Given the description of an element on the screen output the (x, y) to click on. 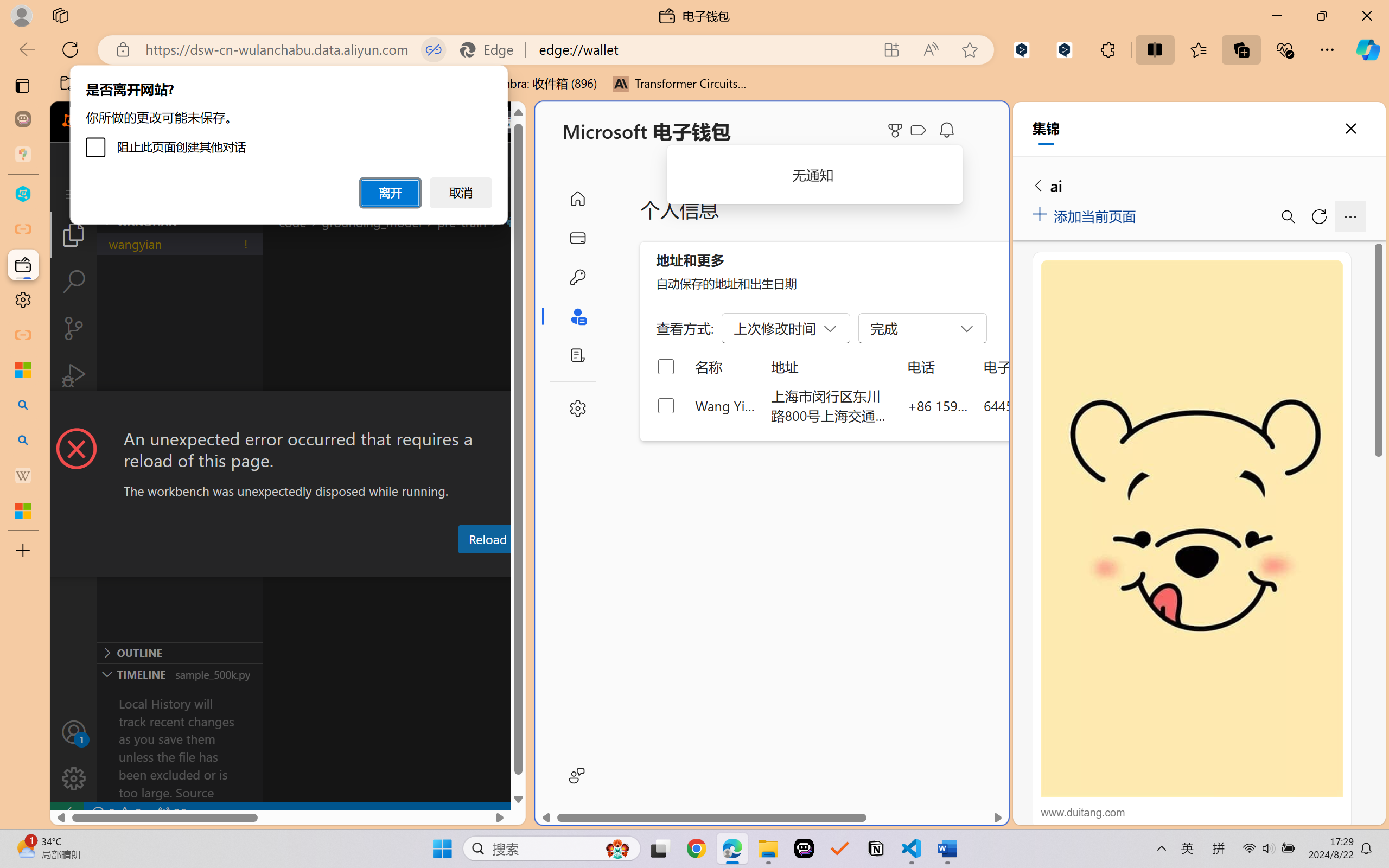
No Problems (115, 812)
Outline Section (179, 652)
Output (Ctrl+Shift+U) (377, 565)
Class: ___1lmltc5 f1agt3bx f12qytpq (917, 130)
